Given the description of an element on the screen output the (x, y) to click on. 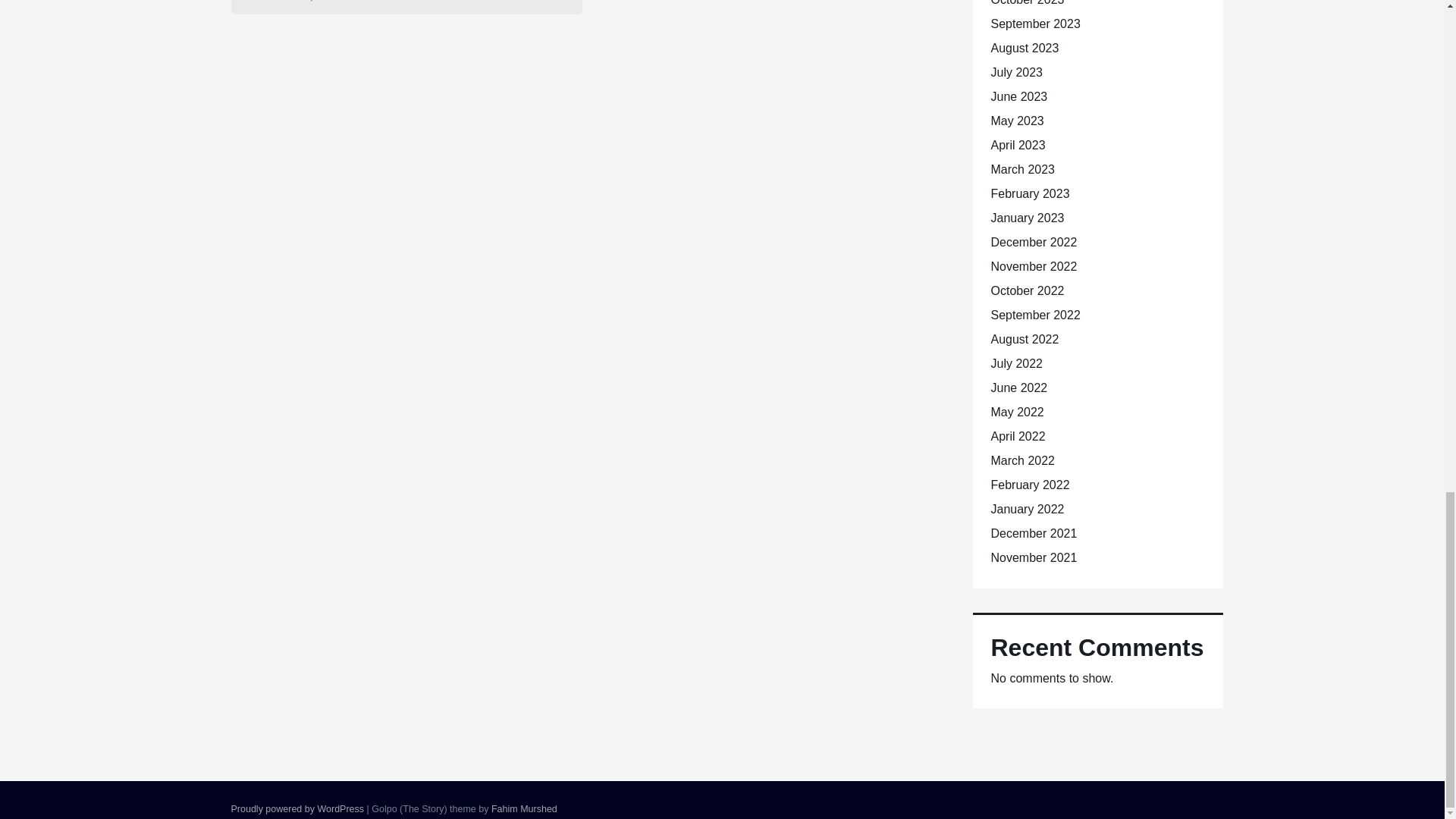
May 2023 (1016, 120)
March 2023 (1022, 169)
June 2023 (1018, 96)
April 2023 (1017, 144)
February 2023 (1029, 193)
December 2022 (1033, 241)
October 2023 (1027, 2)
November 2022 (1033, 266)
September 2023 (1035, 23)
October 2022 (1027, 290)
January 2023 (1027, 217)
August 2023 (1024, 47)
July 2023 (1016, 72)
